Given the description of an element on the screen output the (x, y) to click on. 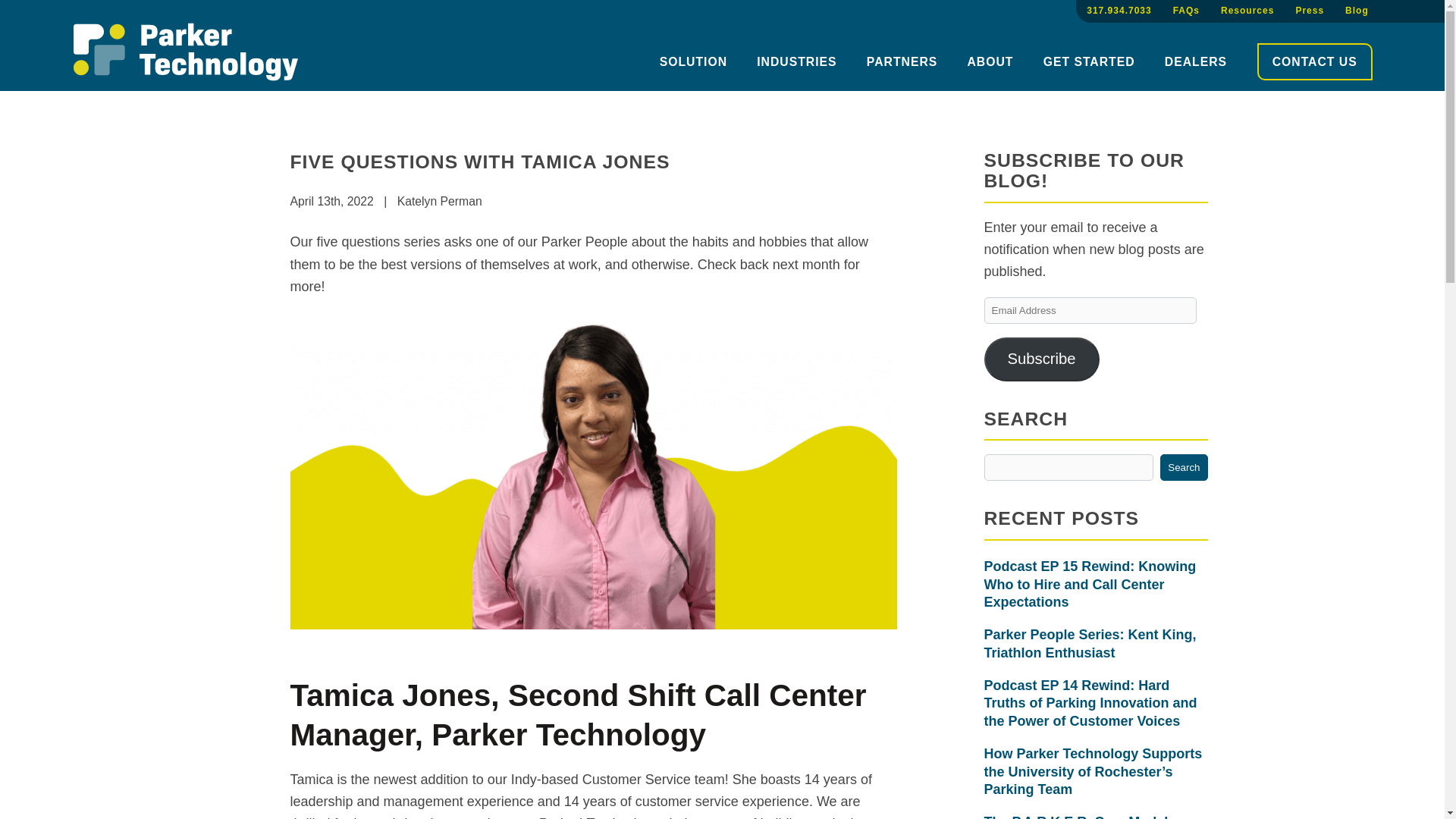
PARTNERS (901, 62)
INDUSTRIES (796, 62)
Parker People Series: Kent King, Triathlon Enthusiast (1096, 643)
317.934.7033 (1118, 10)
Resources (1247, 10)
GET STARTED (1088, 62)
Search (1183, 467)
FAQs (1186, 10)
Press (1309, 10)
Blog (1356, 10)
Search (1183, 467)
CONTACT US (1315, 62)
Subscribe (1041, 359)
